Given the description of an element on the screen output the (x, y) to click on. 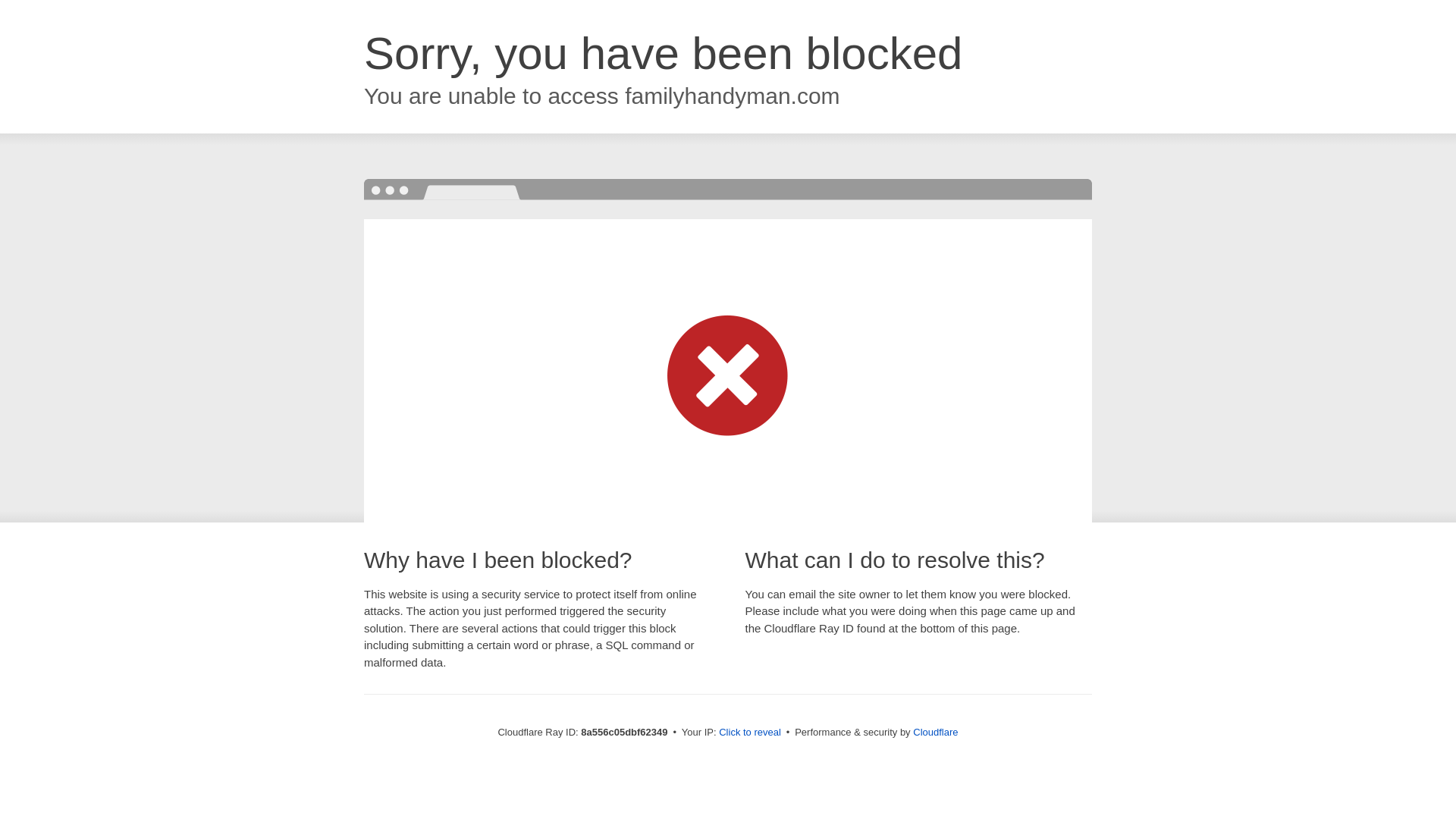
Click to reveal (749, 732)
Cloudflare (935, 731)
